Given the description of an element on the screen output the (x, y) to click on. 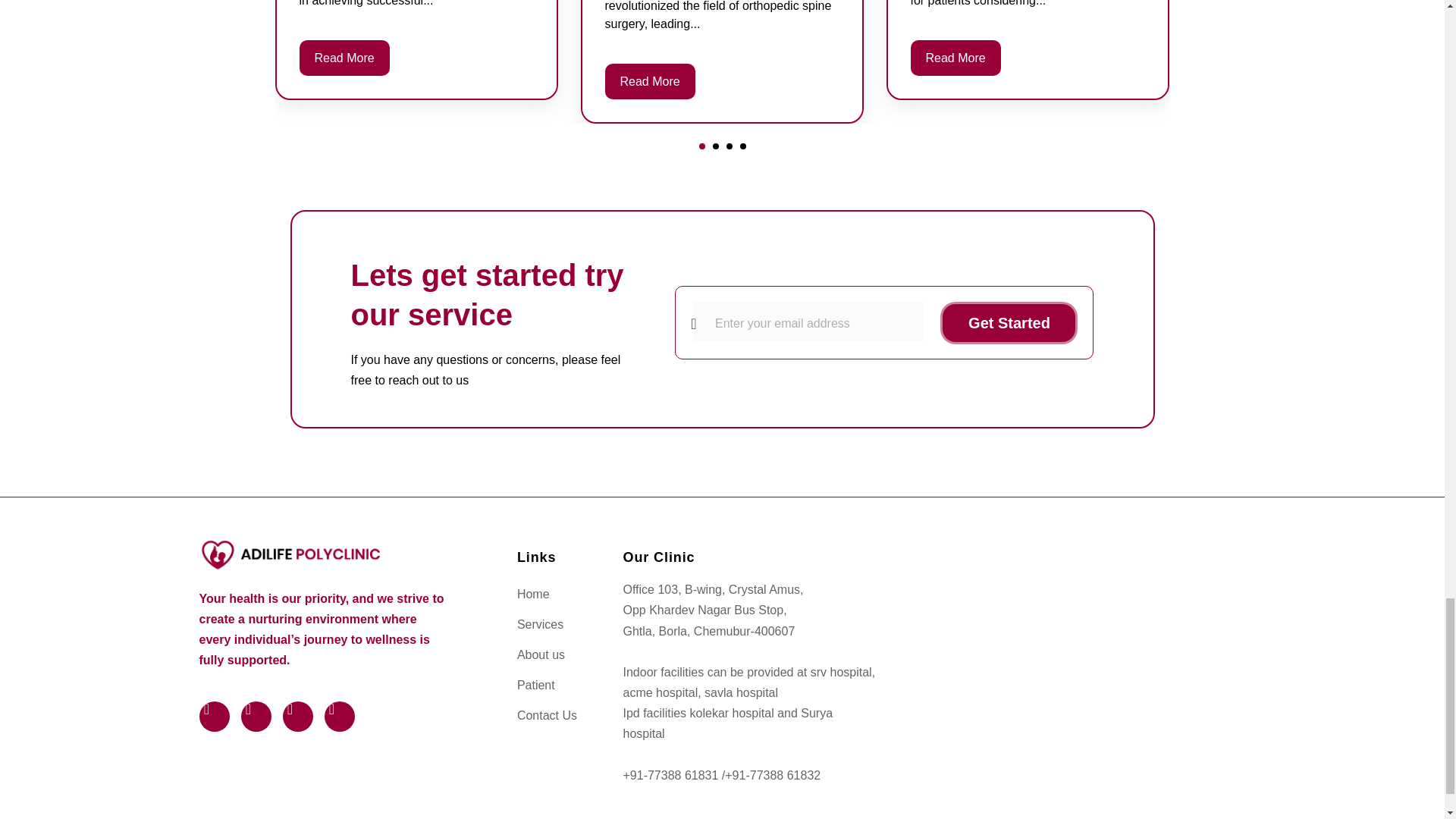
Get Started (1008, 322)
Read More (650, 81)
Read More (955, 58)
Read More (343, 58)
Enter your email address (808, 321)
logo (289, 554)
